Given the description of an element on the screen output the (x, y) to click on. 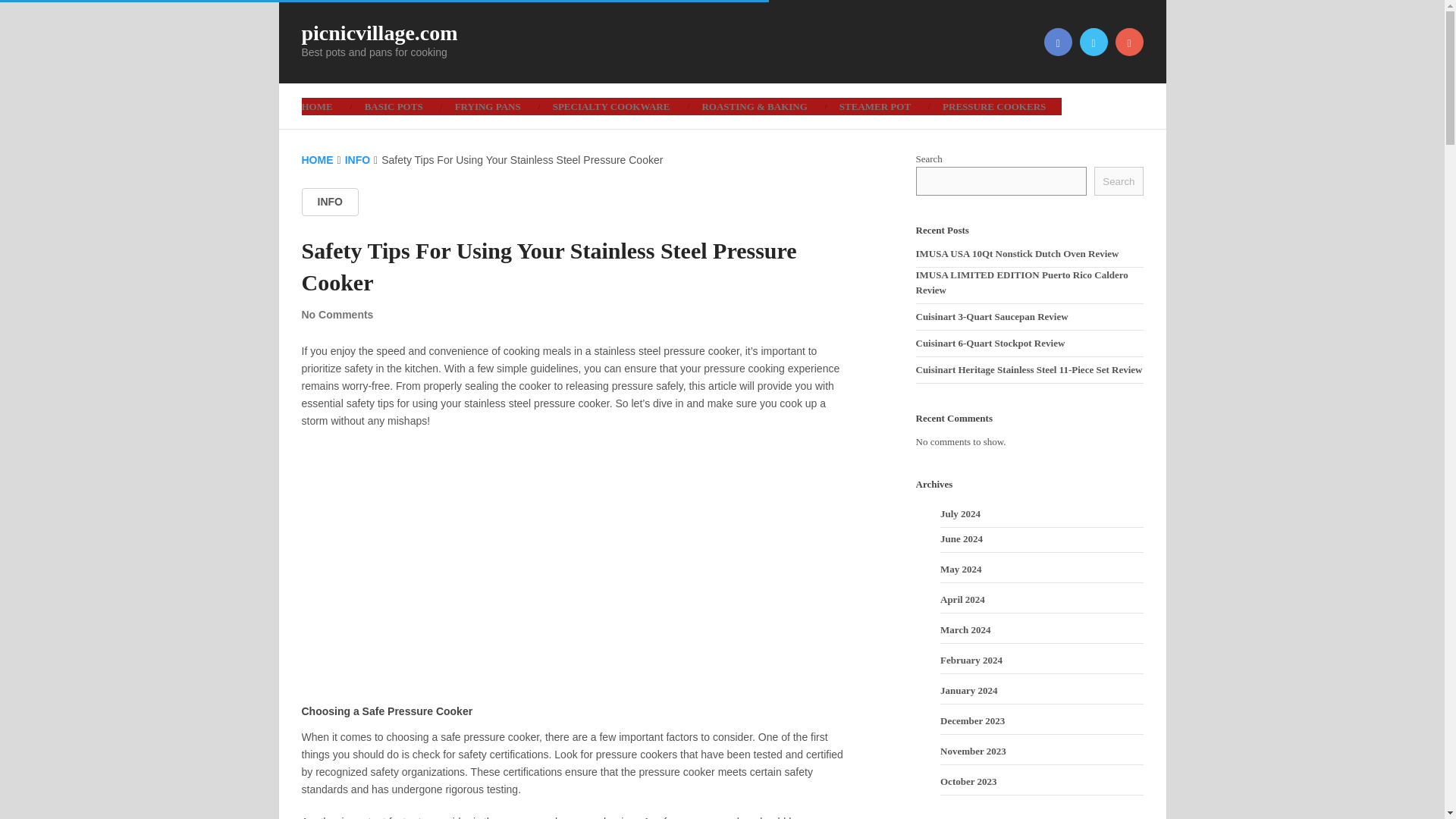
June 2024 (961, 538)
Cuisinart 6-Quart Stockpot Review (990, 342)
HOME (317, 159)
View all posts in Info (329, 202)
INFO (357, 159)
May 2024 (960, 568)
SPECIALTY COOKWARE (611, 105)
PRESSURE COOKERS (993, 105)
INFO (329, 202)
April 2024 (962, 599)
IMUSA USA 10Qt Nonstick Dutch Oven Review (1017, 253)
Cuisinart Heritage Stainless Steel 11-Piece Set Review (1028, 369)
February 2024 (971, 659)
Search (1118, 181)
January 2024 (968, 690)
